Given the description of an element on the screen output the (x, y) to click on. 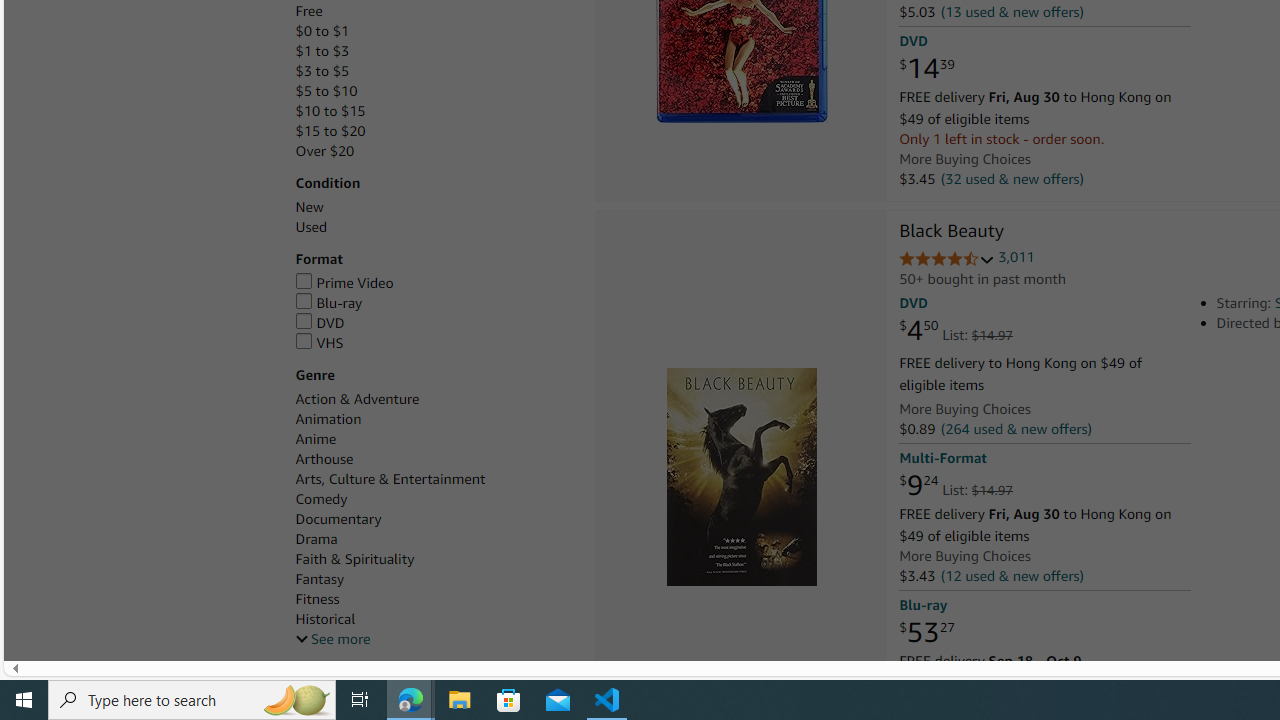
Skip to main search results (88, 651)
Comedy (321, 499)
4.7 out of 5 stars (946, 259)
Anime (315, 439)
Action & Adventure (356, 399)
Over $20 (434, 151)
Prime Video (344, 282)
DVD (434, 323)
Free (308, 11)
Fantasy (319, 579)
Blu-ray (434, 303)
Black Beauty (740, 476)
Anime (434, 439)
Faith & Spirituality (354, 559)
